Given the description of an element on the screen output the (x, y) to click on. 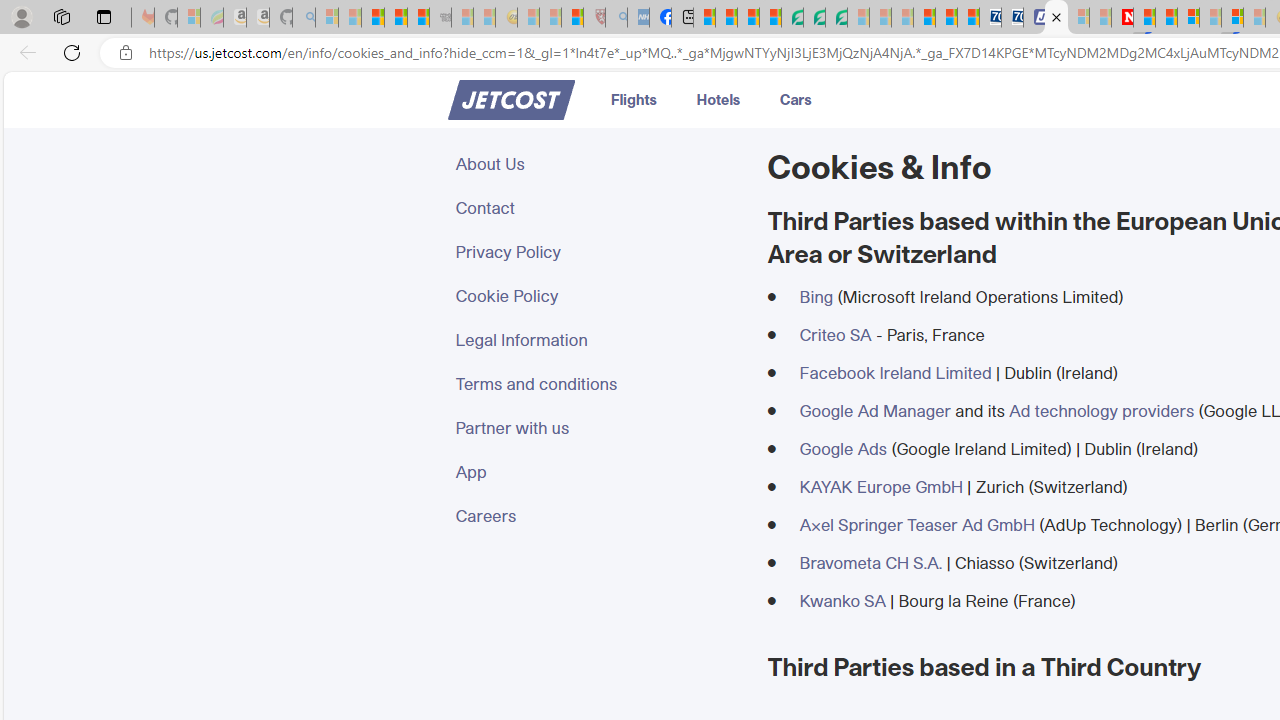
Microsoft Word - consumer-privacy address update 2.2021 (836, 17)
Criteo SA (834, 334)
Hotels (718, 98)
Cookies & Info (1056, 17)
App (599, 471)
Flights (633, 98)
Terms and conditions (599, 383)
Google Ad Manager (874, 410)
Terms of Use Agreement (814, 17)
